Given the description of an element on the screen output the (x, y) to click on. 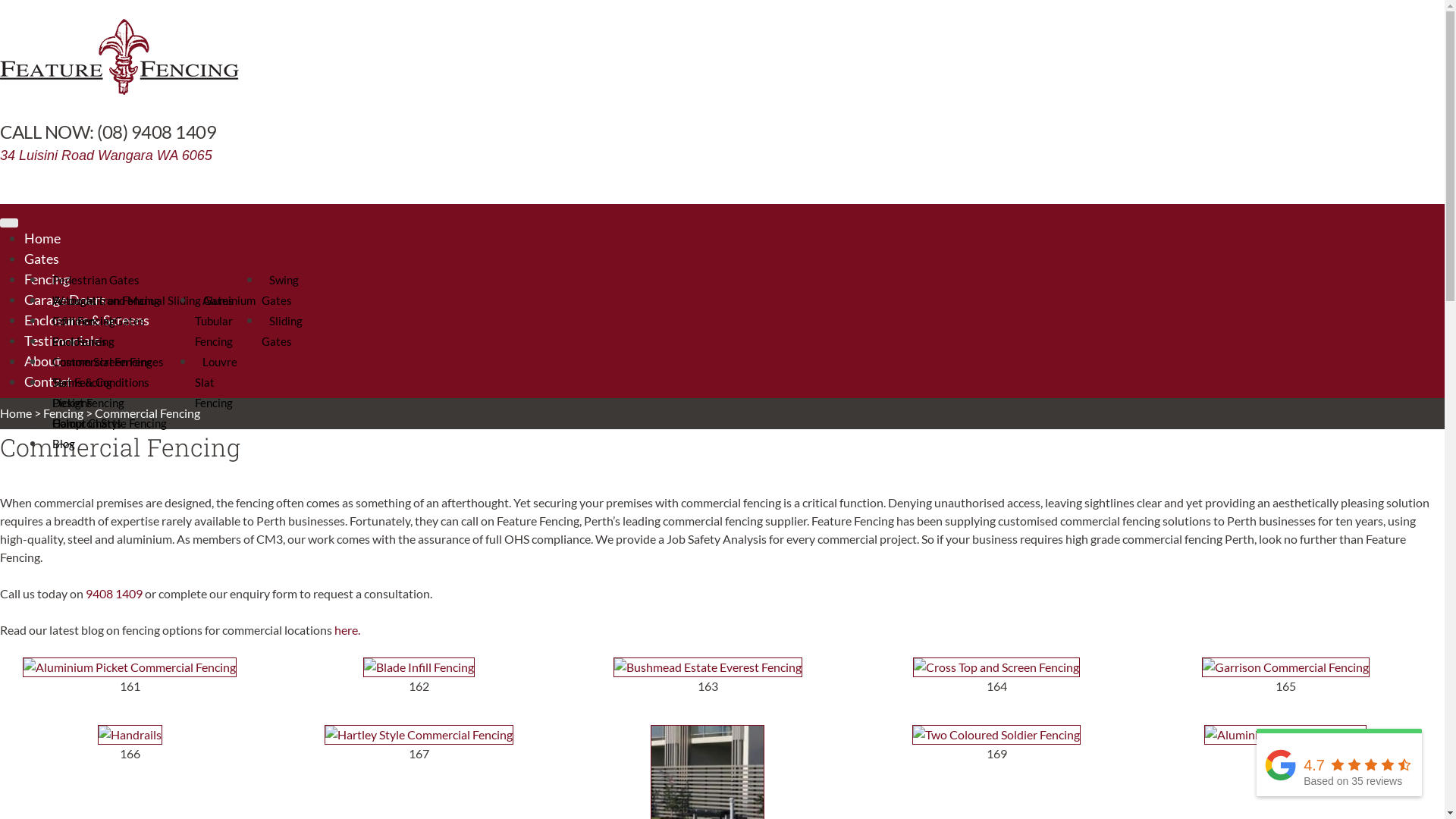
Wrought Iron Fencing Element type: text (105, 299)
Commercial Fencing Element type: text (102, 361)
Fencing Element type: text (63, 412)
Hampton Style Fencing Element type: text (109, 422)
Testimonials Element type: text (726, 340)
Gates Element type: text (726, 258)
(08) 9408 1409 Element type: text (108, 131)
Infill Fencing Element type: text (83, 320)
Slat Fencing Element type: text (81, 381)
Enclosures & Screens Element type: text (726, 320)
Automatic and Manual Sliding Gates Element type: text (142, 299)
Home Element type: text (15, 412)
Pool Fencing Element type: text (83, 340)
Pedestrian Gates Element type: text (95, 279)
Blog Element type: text (63, 443)
Contact Element type: text (726, 381)
Terms & Conditions Element type: text (100, 381)
Colour Charts Element type: text (86, 422)
Custom Screen Fences Element type: text (107, 361)
Designs Element type: text (72, 402)
Feature Fencing Element type: text (41, 119)
Garage Doors Element type: text (726, 299)
9408 1409 Element type: text (113, 593)
Commercial Gates Element type: text (98, 320)
here.  Element type: text (348, 629)
Aluminium Tubular Fencing Element type: text (224, 320)
Swing Gates Element type: text (280, 289)
Fencing Element type: text (726, 279)
Picket Fencing Element type: text (87, 402)
Enclosures Element type: text (79, 340)
About Element type: text (726, 361)
Home Element type: text (726, 238)
Sliding Gates Element type: text (281, 330)
Louvre Slat Fencing Element type: text (217, 382)
